Given the description of an element on the screen output the (x, y) to click on. 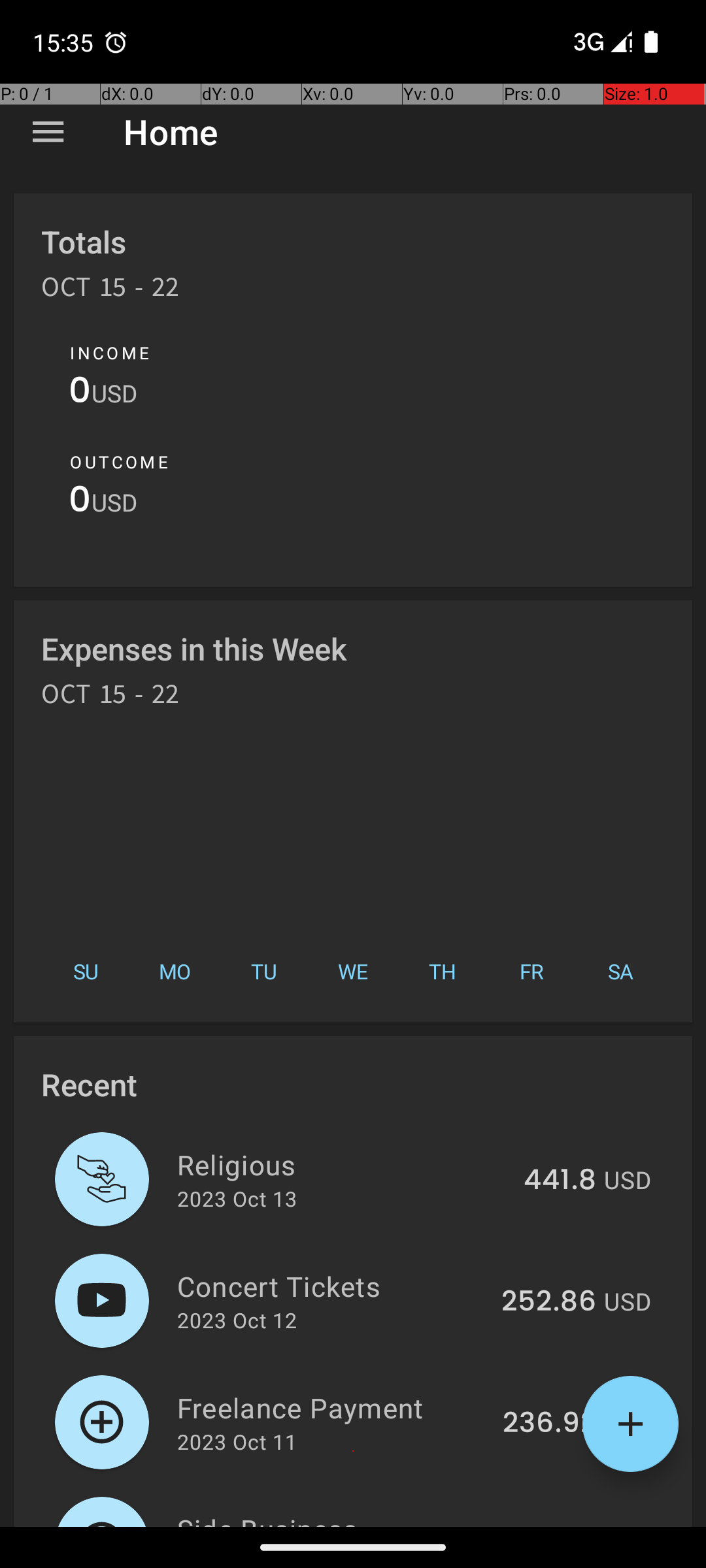
441.8 Element type: android.widget.TextView (559, 1180)
Concert Tickets Element type: android.widget.TextView (331, 1285)
252.86 Element type: android.widget.TextView (548, 1301)
236.92 Element type: android.widget.TextView (549, 1423)
Side Business Element type: android.widget.TextView (330, 1518)
452.05 Element type: android.widget.TextView (547, 1524)
